Given the description of an element on the screen output the (x, y) to click on. 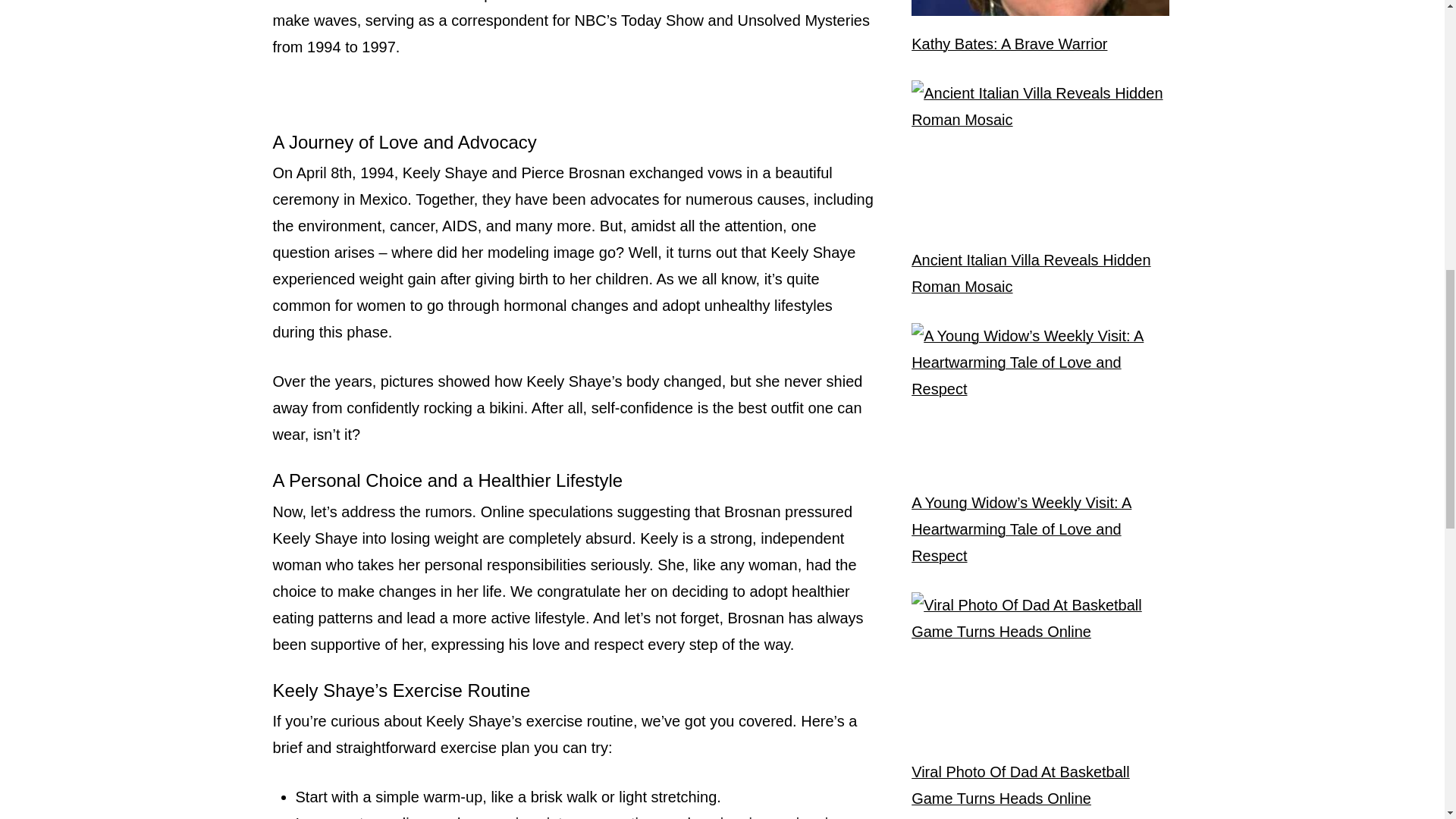
Ancient Italian Villa Reveals Hidden Roman Mosaic (1040, 273)
Kathy Bates: A Brave Warrior (1008, 44)
Viral Photo Of Dad At Basketball Game Turns Heads Online (1040, 785)
